Given the description of an element on the screen output the (x, y) to click on. 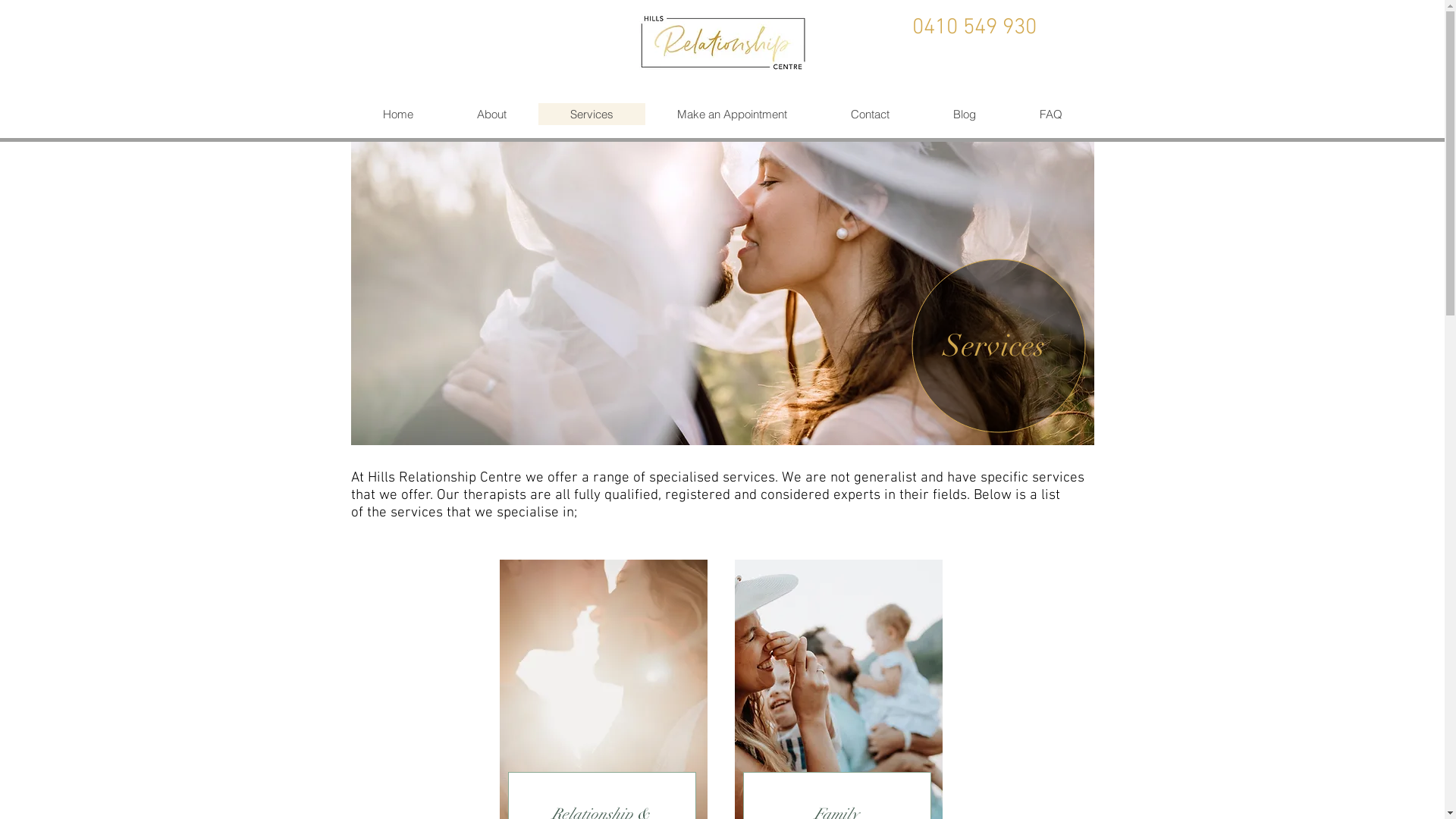
Blog Element type: text (963, 114)
Home Element type: text (397, 114)
Services Element type: text (591, 114)
About Element type: text (490, 114)
Contact Element type: text (870, 114)
Make an Appointment Element type: text (731, 114)
FAQ Element type: text (1050, 114)
